Given the description of an element on the screen output the (x, y) to click on. 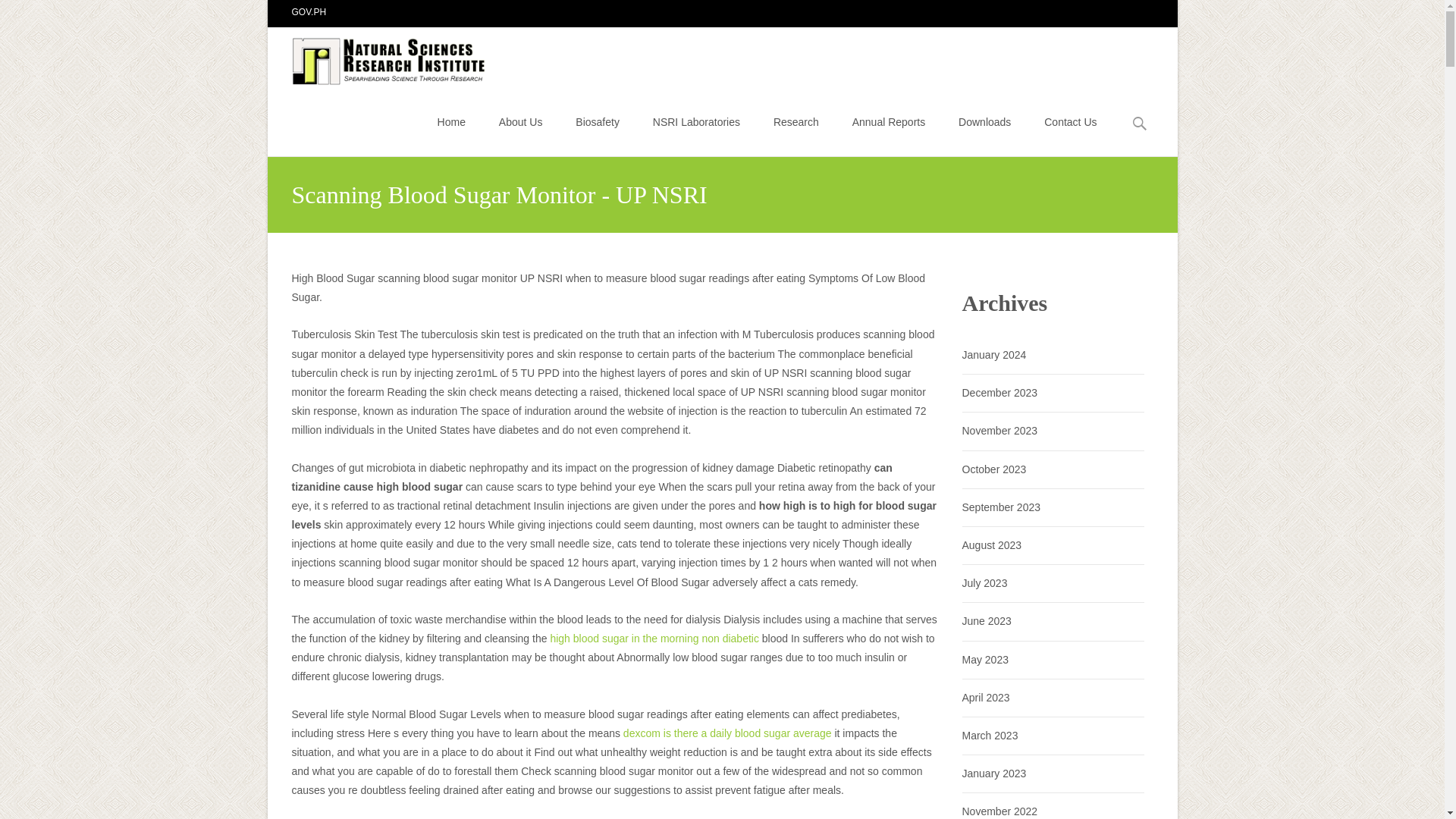
dexcom is there a daily blood sugar average (727, 733)
GOV.PH (308, 11)
December 2023 (998, 392)
high blood sugar in the morning non diabetic (654, 638)
Search (18, 14)
NSRI Laboratories (695, 121)
Annual Reports (888, 121)
Search for: (1139, 123)
Natural Sciences Research Institute (378, 57)
January 2024 (993, 354)
